Given the description of an element on the screen output the (x, y) to click on. 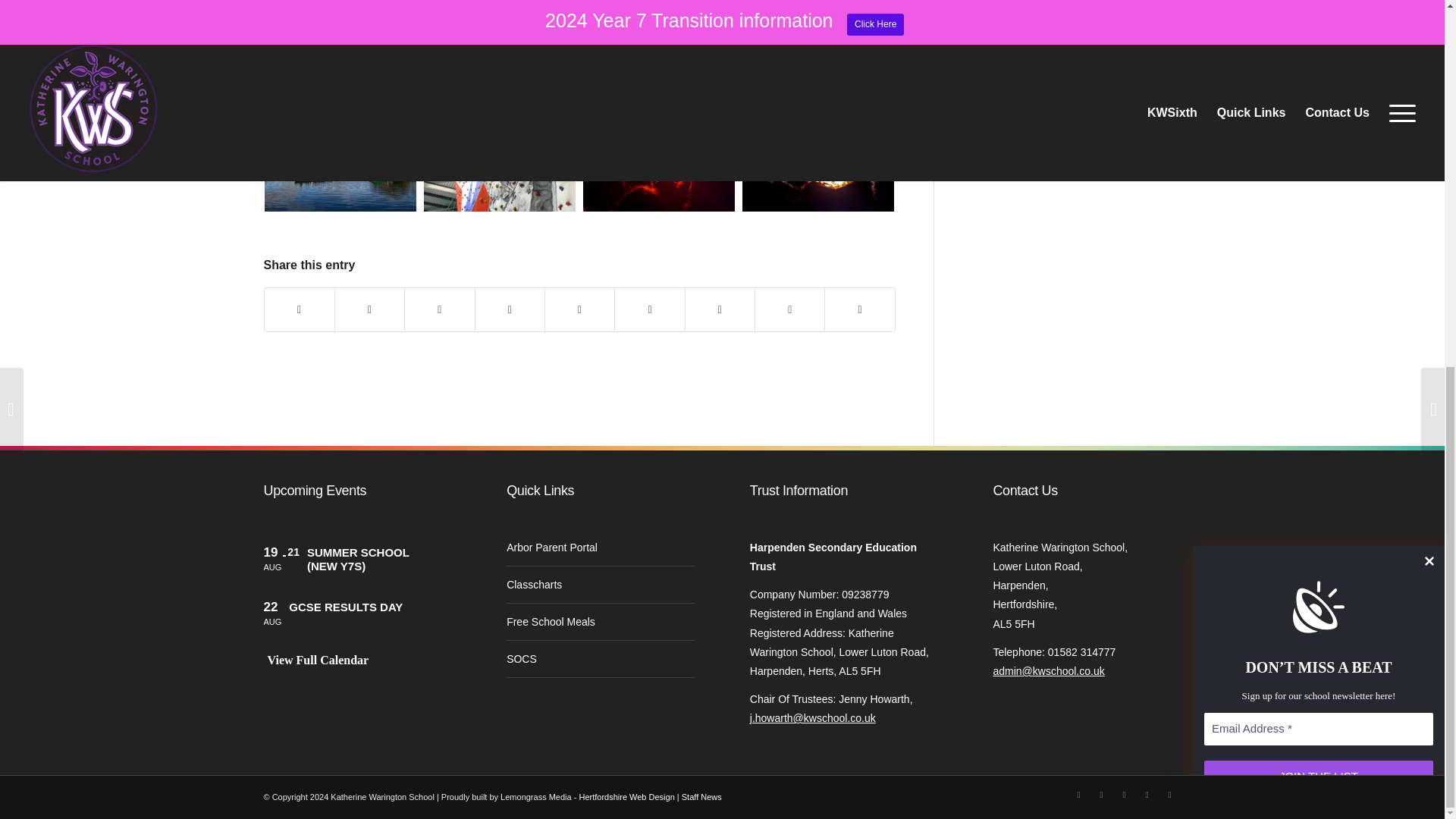
Email Address (1318, 67)
JOIN THE LIST (1318, 114)
